Given the description of an element on the screen output the (x, y) to click on. 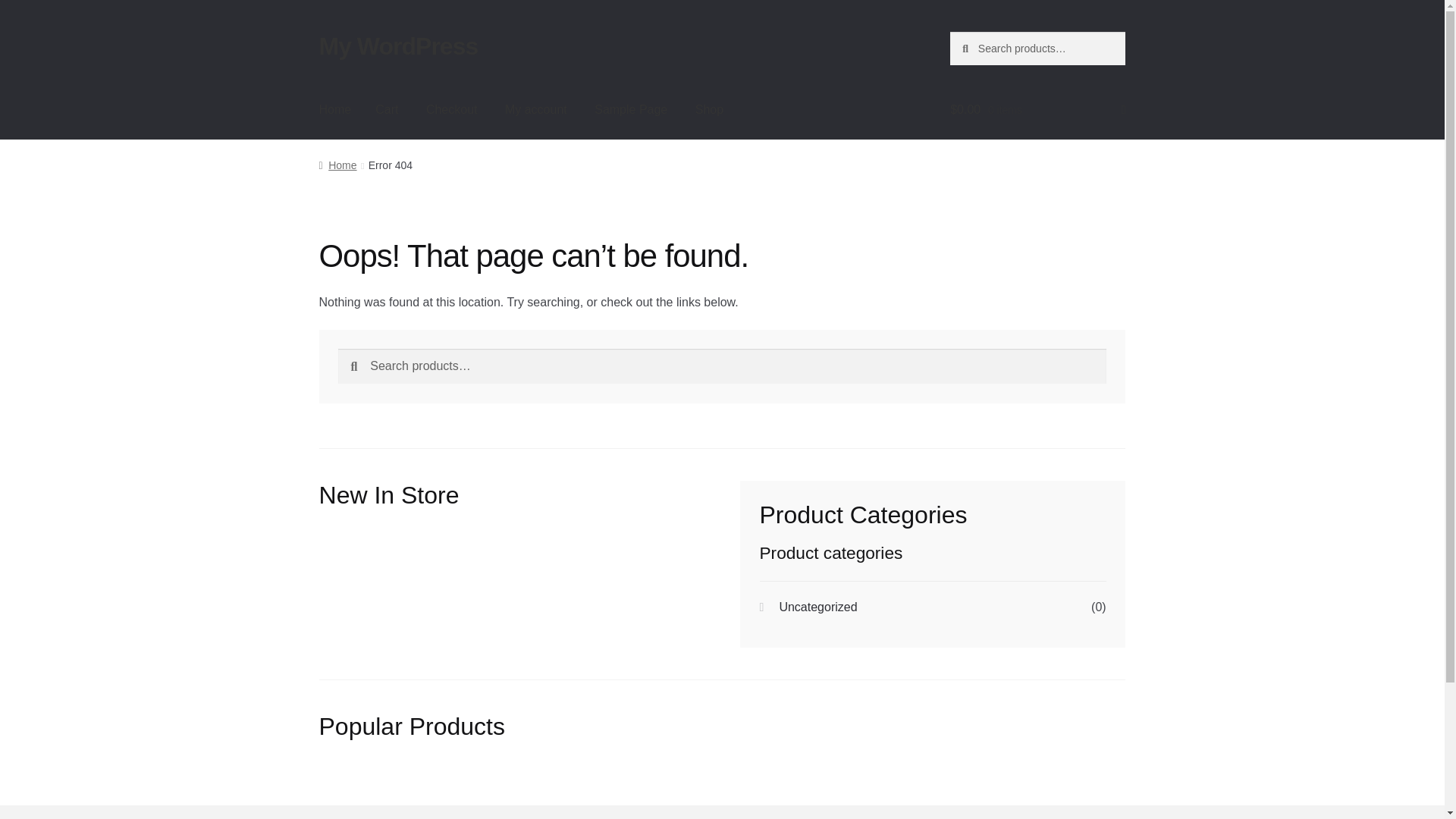
Home (337, 164)
Uncategorized (817, 606)
Home (335, 109)
My WordPress (398, 45)
View your shopping cart (1037, 109)
Checkout (451, 109)
Sample Page (630, 109)
My account (536, 109)
